Given the description of an element on the screen output the (x, y) to click on. 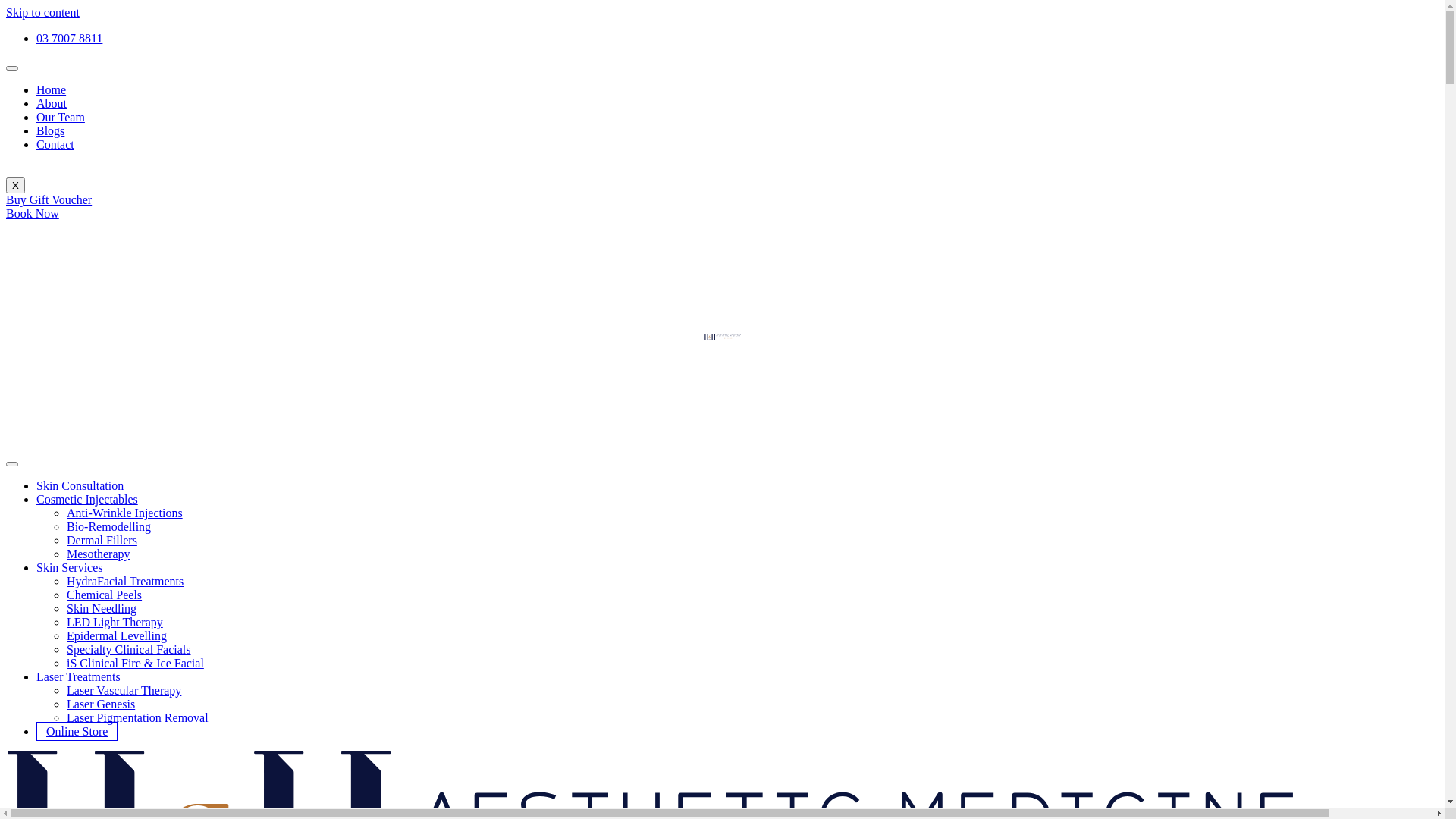
Buy Gift Voucher Element type: text (48, 199)
Online Store Element type: text (76, 730)
Cosmetic Injectables Element type: text (87, 498)
Home Element type: text (50, 89)
HydraFacial Treatments Element type: text (124, 580)
Book Now Element type: text (32, 213)
Laser Pigmentation Removal Element type: text (137, 717)
Epidermal Levelling Element type: text (116, 635)
03 7007 8811 Element type: text (69, 37)
Specialty Clinical Facials Element type: text (128, 649)
Blogs Element type: text (50, 130)
Laser Treatments Element type: text (78, 676)
Laser Genesis Element type: text (100, 703)
Anti-Wrinkle Injections Element type: text (124, 512)
X Element type: text (15, 185)
Our Team Element type: text (60, 116)
LED Light Therapy Element type: text (114, 621)
Dermal Fillers Element type: text (101, 539)
Chemical Peels Element type: text (103, 594)
Skin Services Element type: text (69, 567)
Mesotherapy Element type: text (98, 553)
iS Clinical Fire & Ice Facial Element type: text (134, 662)
About Element type: text (51, 103)
Skin Consultation Element type: text (79, 485)
Contact Element type: text (55, 144)
Skin Needling Element type: text (101, 608)
Laser Vascular Therapy Element type: text (123, 690)
Skip to content Element type: text (42, 12)
Bio-Remodelling Element type: text (108, 526)
